Given the description of an element on the screen output the (x, y) to click on. 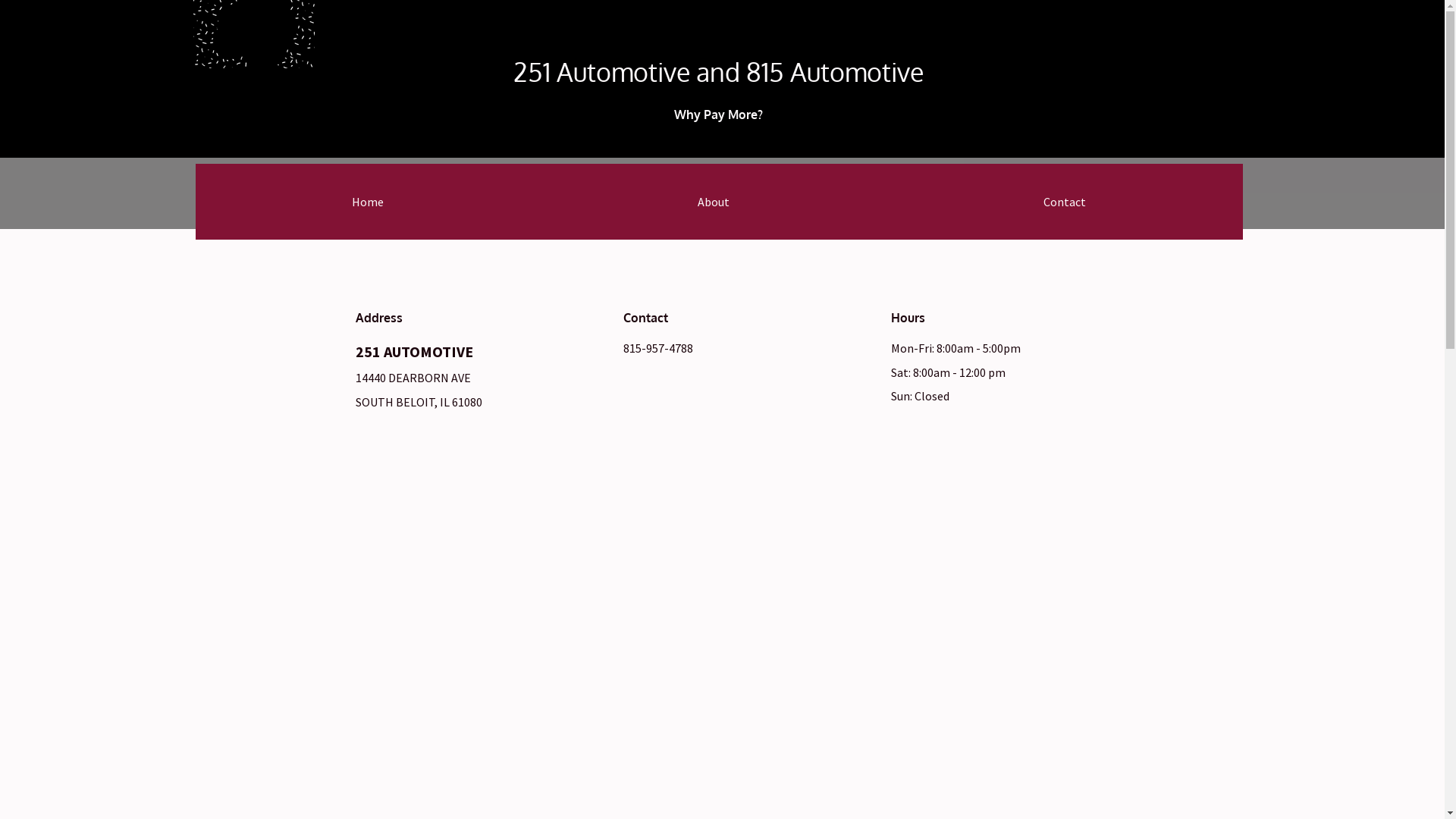
Google Maps Element type: hover (717, 631)
Contact Element type: text (1064, 201)
About Element type: text (713, 201)
Home Element type: text (368, 201)
